Given the description of an element on the screen output the (x, y) to click on. 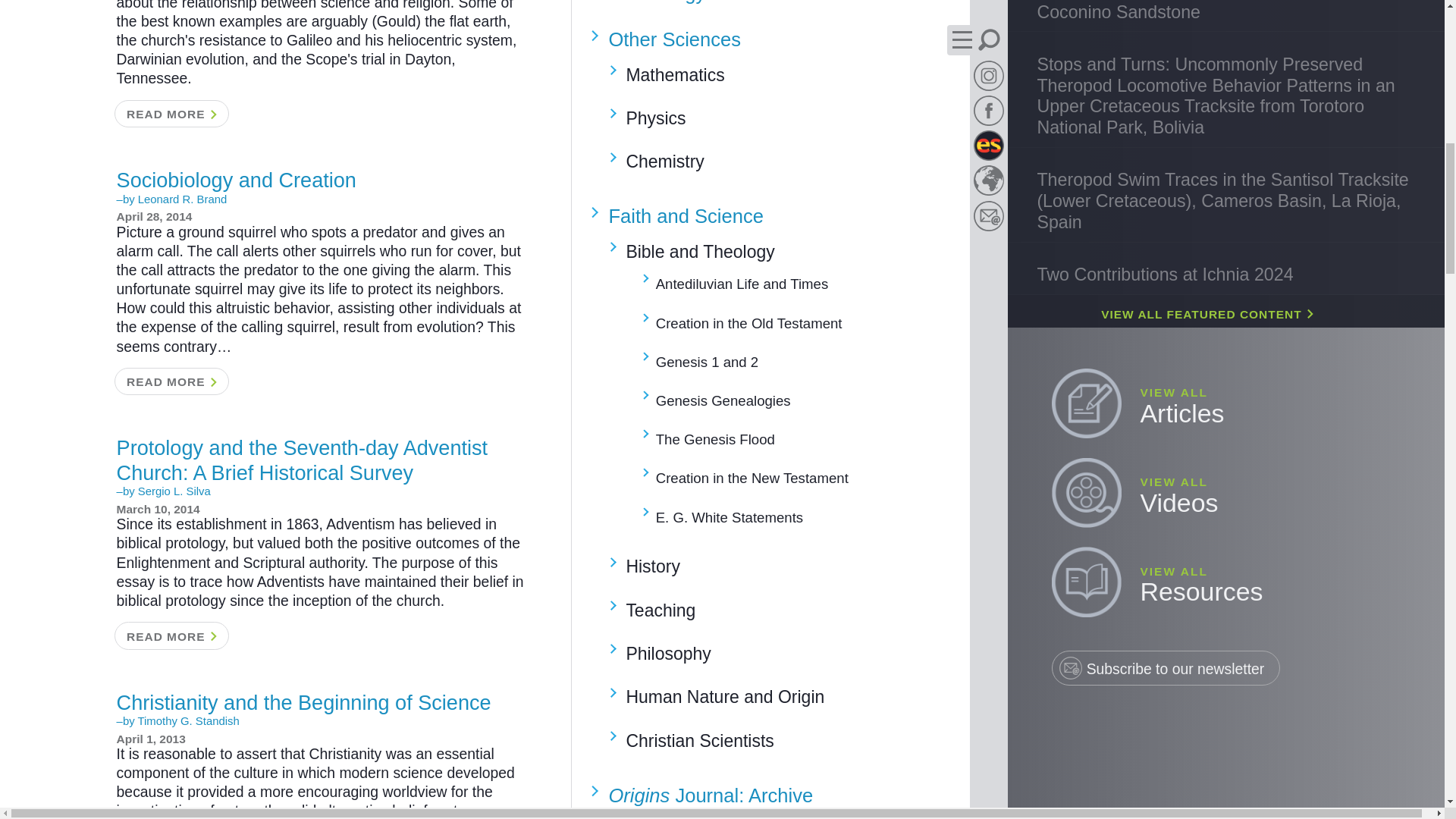
READ MORE (170, 635)
READ MORE (170, 380)
READ MORE (170, 113)
